Given the description of an element on the screen output the (x, y) to click on. 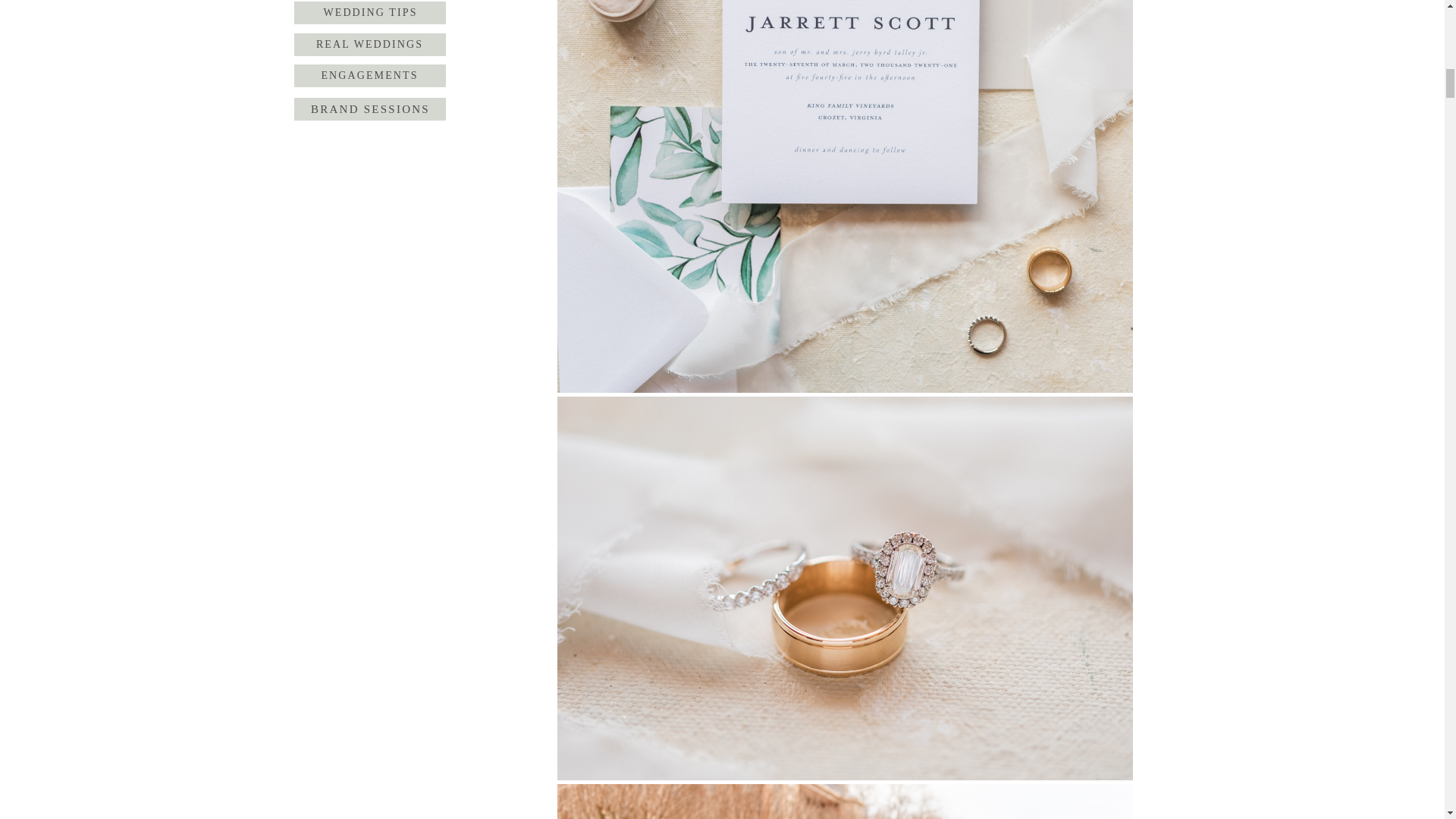
REAL WEDDINGS (369, 44)
ENGAGEMENTS (369, 75)
BRAND SESSIONS (370, 108)
WEDDING TIPS (370, 12)
